Given the description of an element on the screen output the (x, y) to click on. 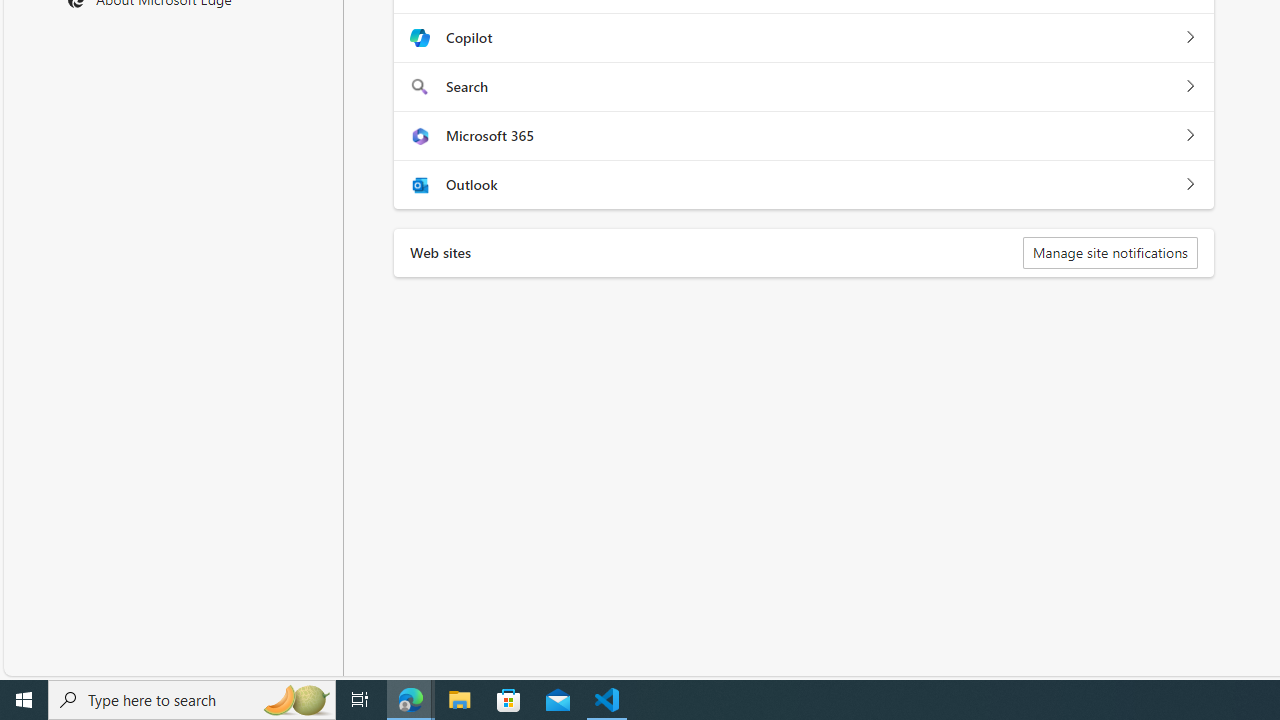
Manage site notifications (1109, 252)
Copilot (1190, 38)
